Given the description of an element on the screen output the (x, y) to click on. 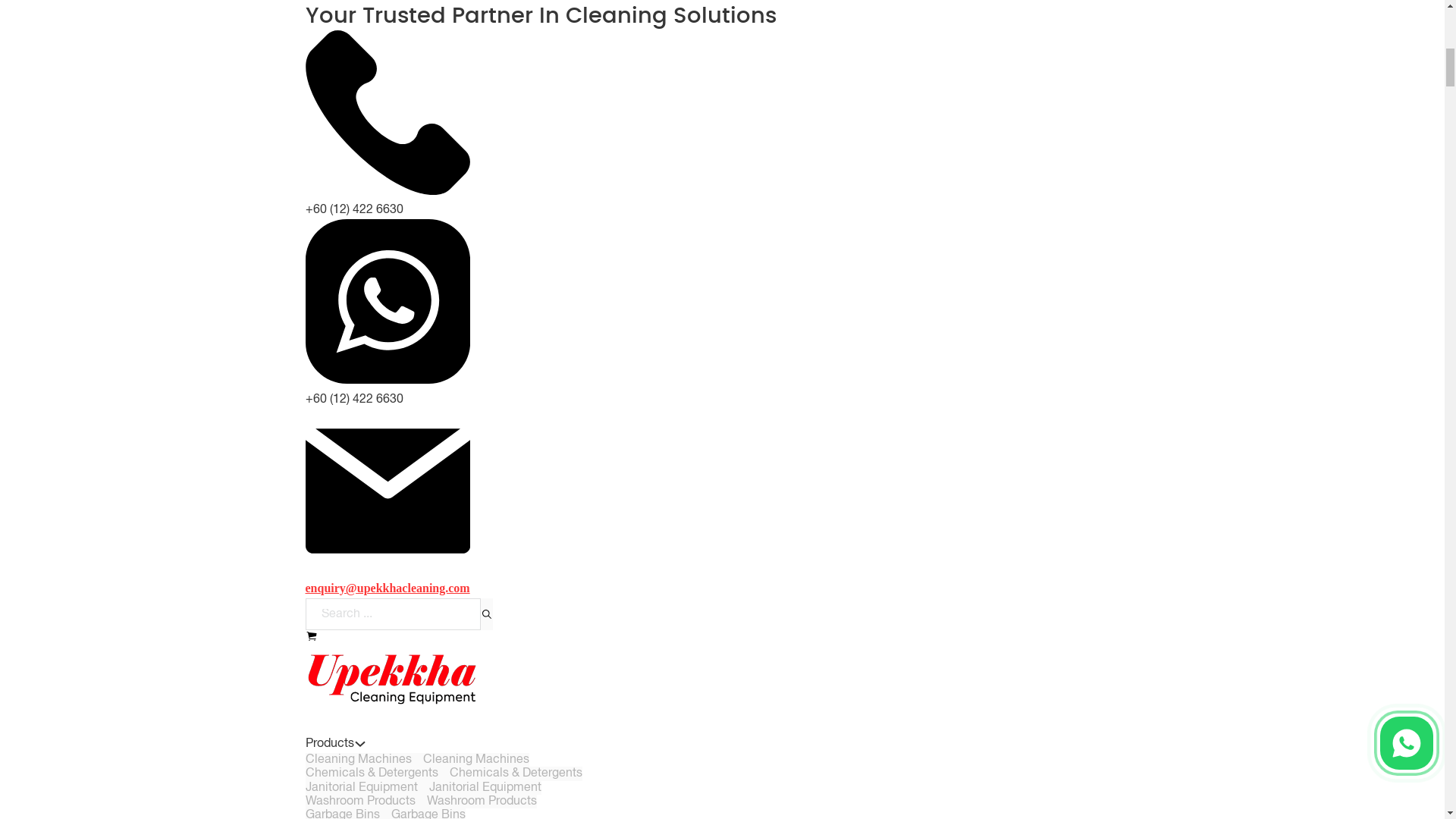
Floor Sweeper (343, 330)
Others (371, 10)
Garbage Bins (428, 1)
Auto Scrubber (342, 724)
Floor Scrubber (346, 10)
